Given the description of an element on the screen output the (x, y) to click on. 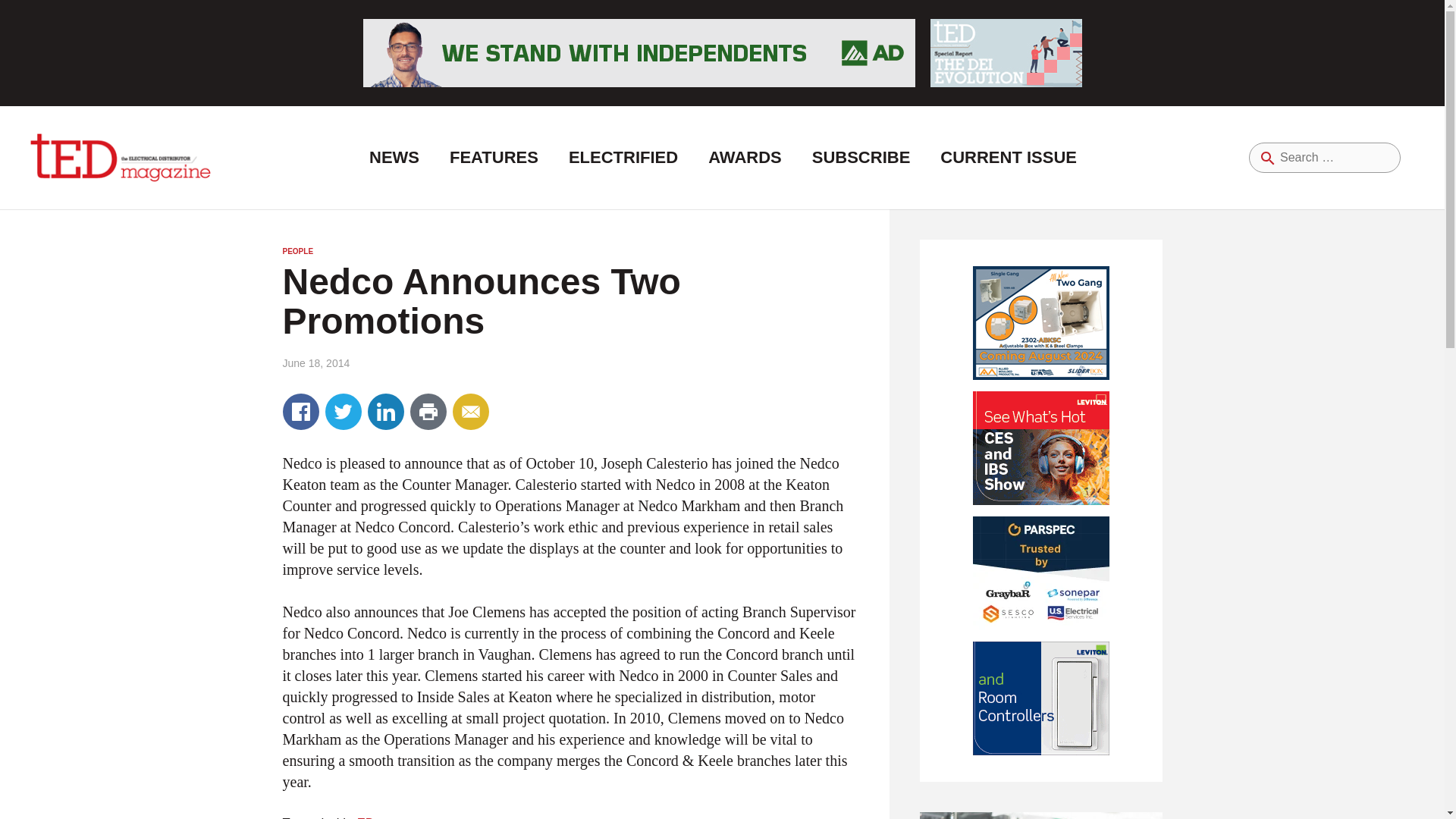
CURRENT ISSUE (1008, 157)
SUBSCRIBE (861, 157)
Search for: (1324, 157)
ELECTRIFIED (622, 157)
FEATURES (493, 157)
AWARDS (745, 157)
June 18, 2014 (315, 363)
NEWS (394, 157)
